Given the description of an element on the screen output the (x, y) to click on. 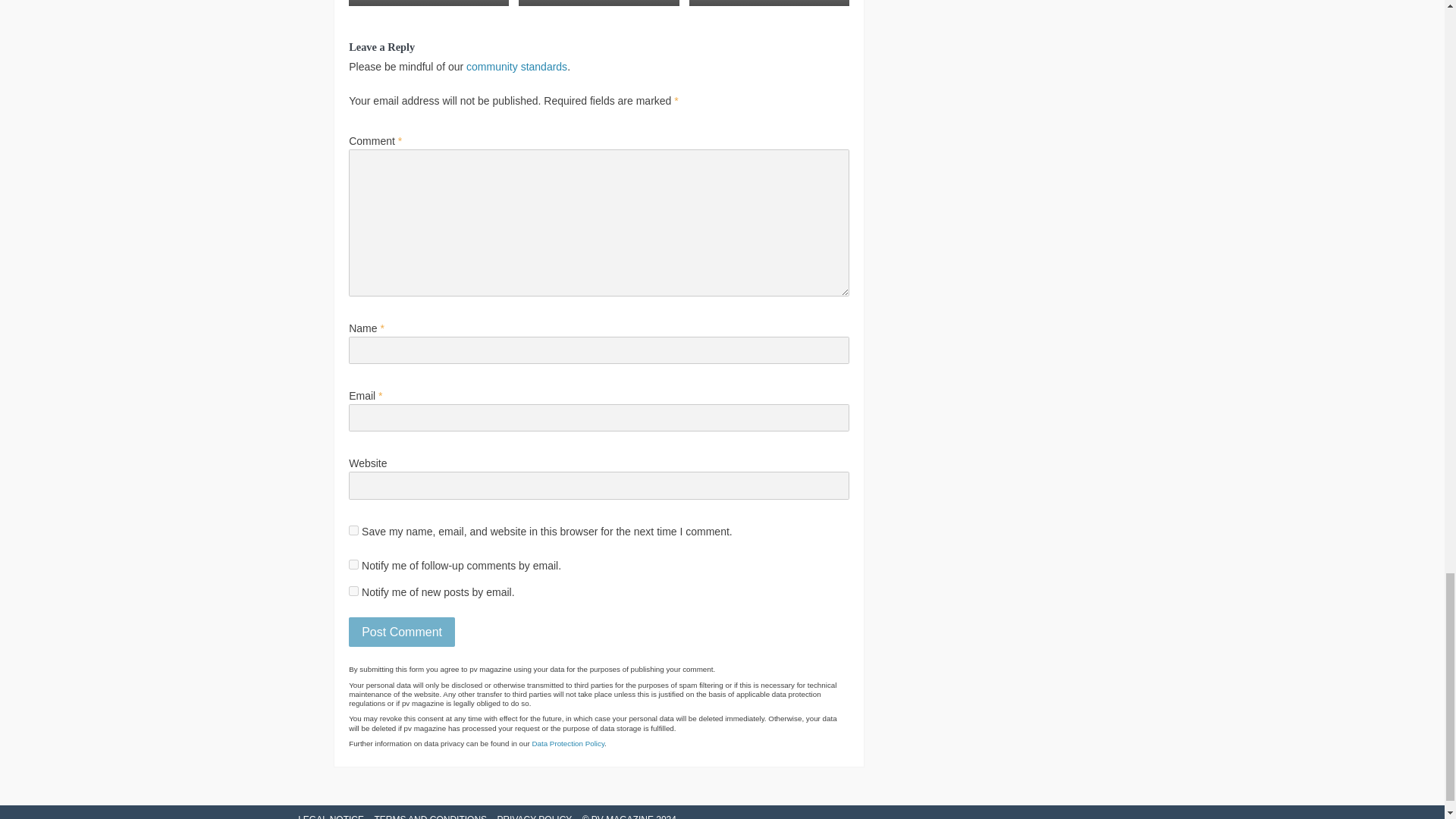
yes (353, 530)
subscribe (353, 591)
subscribe (353, 564)
Post Comment (401, 632)
